Given the description of an element on the screen output the (x, y) to click on. 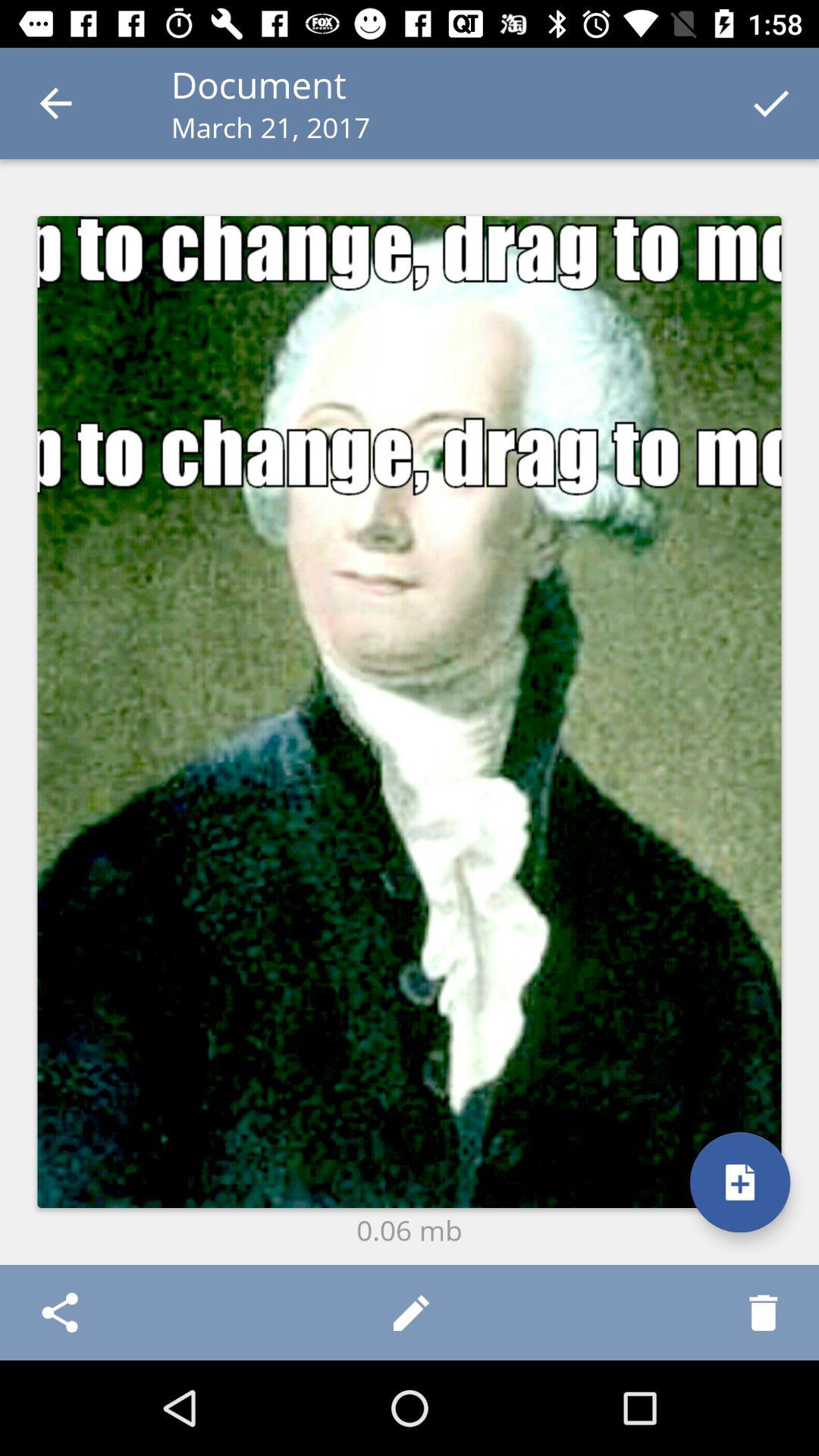
choose item at the top right corner (771, 103)
